Given the description of an element on the screen output the (x, y) to click on. 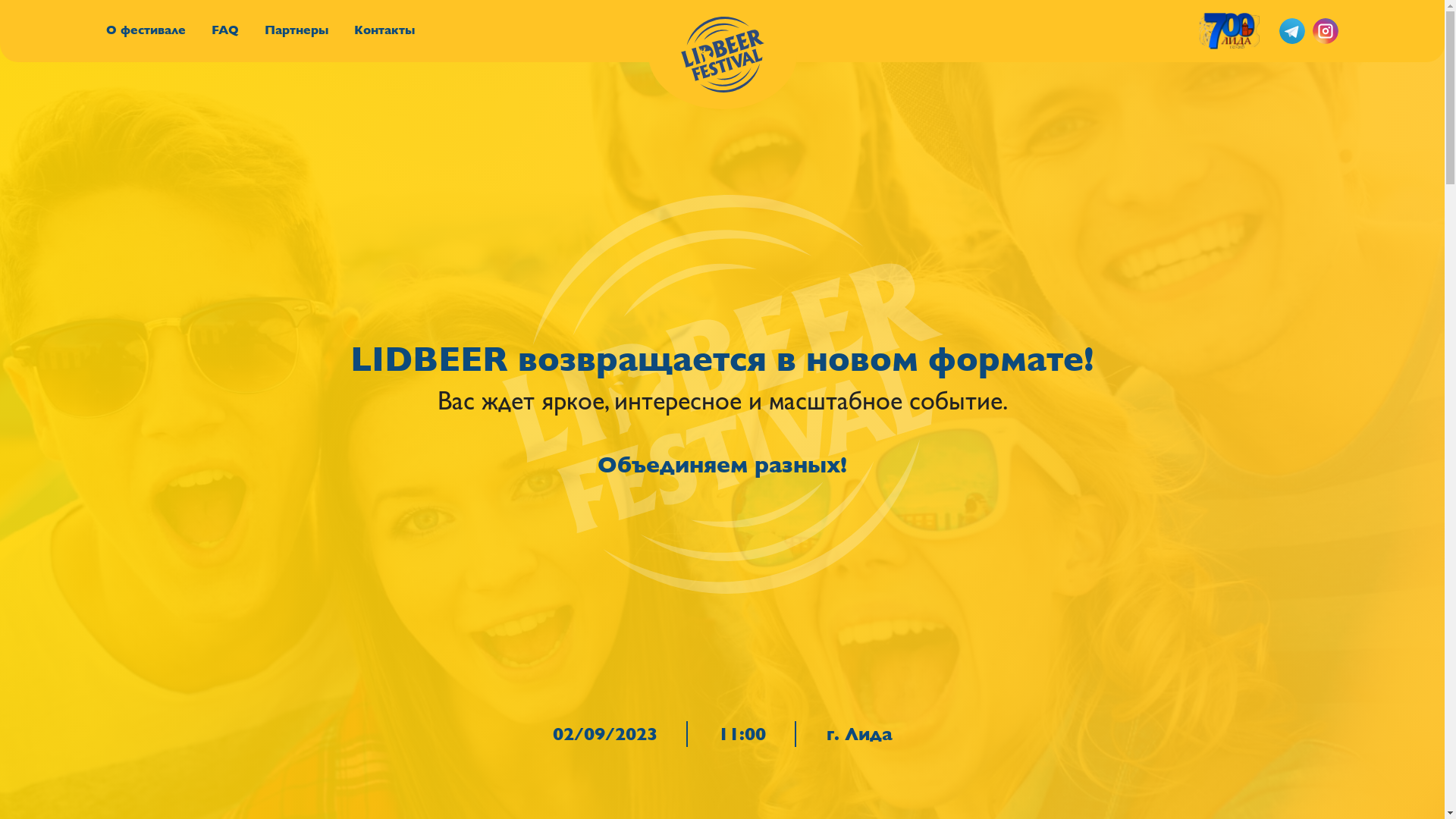
FAQ Element type: text (224, 29)
